Given the description of an element on the screen output the (x, y) to click on. 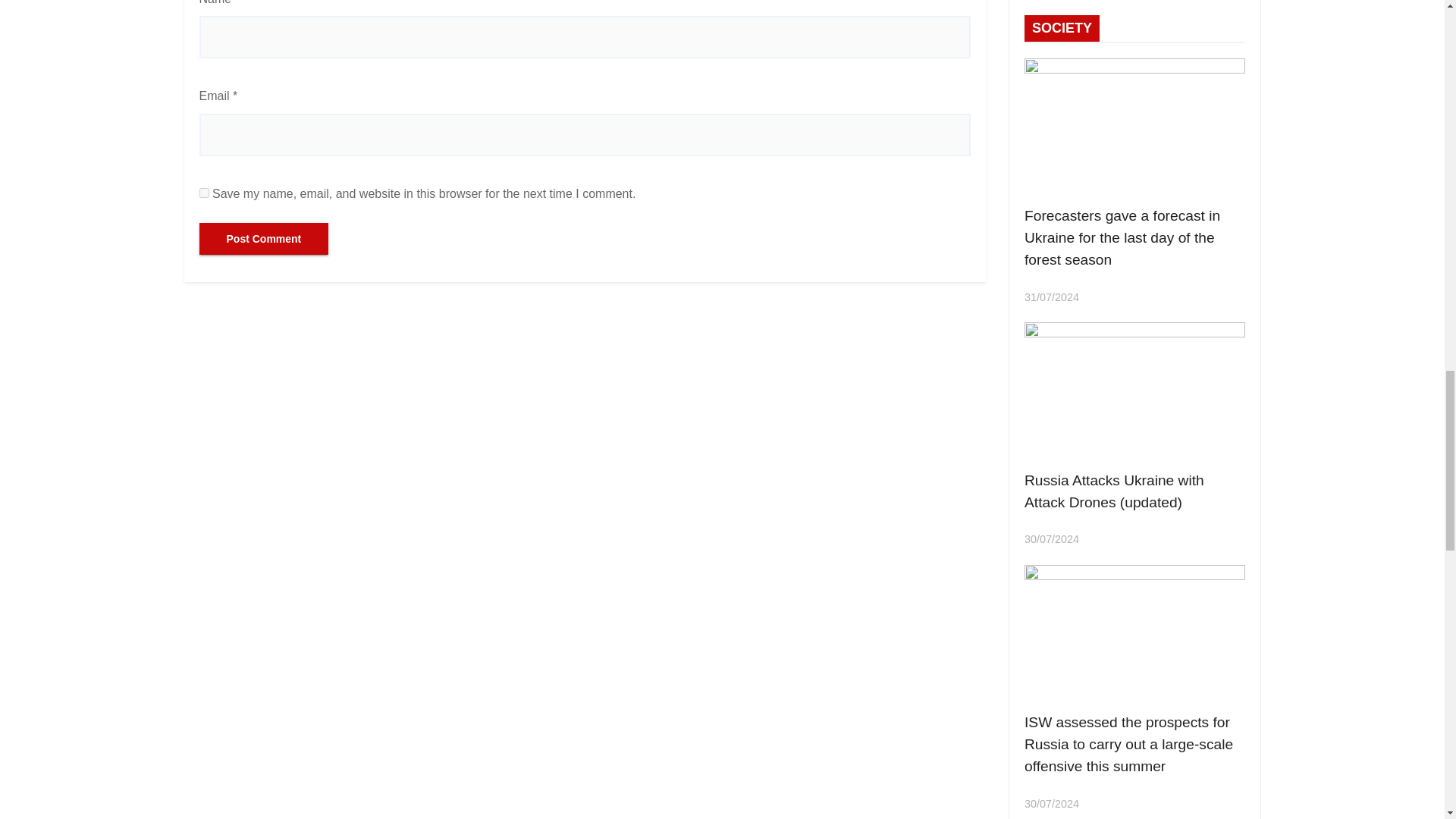
Post Comment (263, 238)
yes (203, 193)
